Given the description of an element on the screen output the (x, y) to click on. 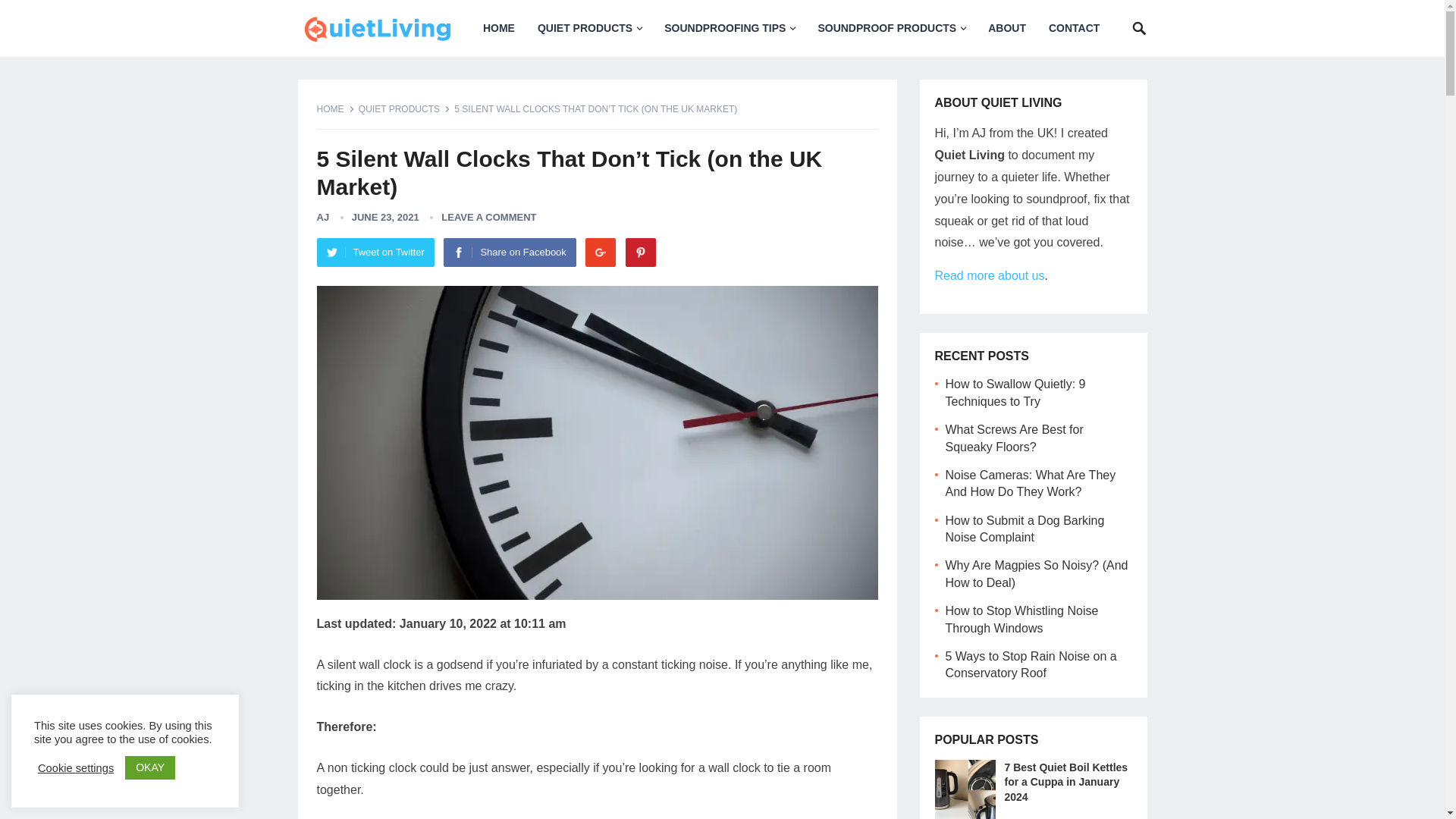
SOUNDPROOFING TIPS (729, 28)
CONTACT (1073, 28)
HOME (498, 28)
Posts by AJ (323, 216)
QUIET PRODUCTS (588, 28)
SOUNDPROOF PRODUCTS (891, 28)
ABOUT (1006, 28)
View all posts in Quiet Products (403, 109)
